Given the description of an element on the screen output the (x, y) to click on. 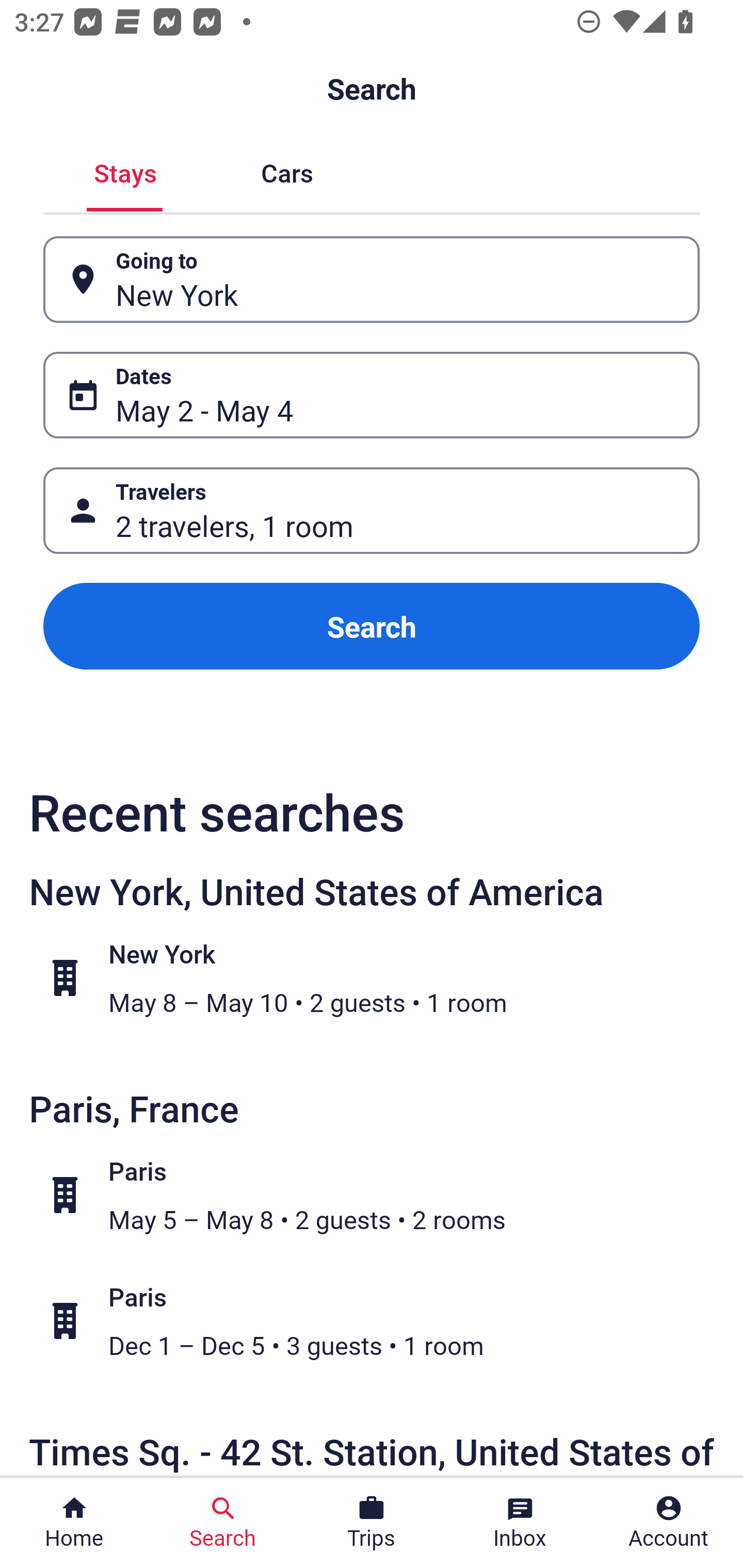
Cars (286, 171)
Going to Button New York (371, 279)
Dates Button May 2 - May 4 (371, 395)
Travelers Button 2 travelers, 1 room (371, 510)
Search (371, 626)
New York May 8 – May 10 • 2 guests • 1 room (382, 978)
Paris May 5 – May 8 • 2 guests • 2 rooms (382, 1194)
Paris Dec 1 – Dec 5 • 3 guests • 1 room (382, 1320)
Home Home Button (74, 1522)
Trips Trips Button (371, 1522)
Inbox Inbox Button (519, 1522)
Account Profile. Button (668, 1522)
